Given the description of an element on the screen output the (x, y) to click on. 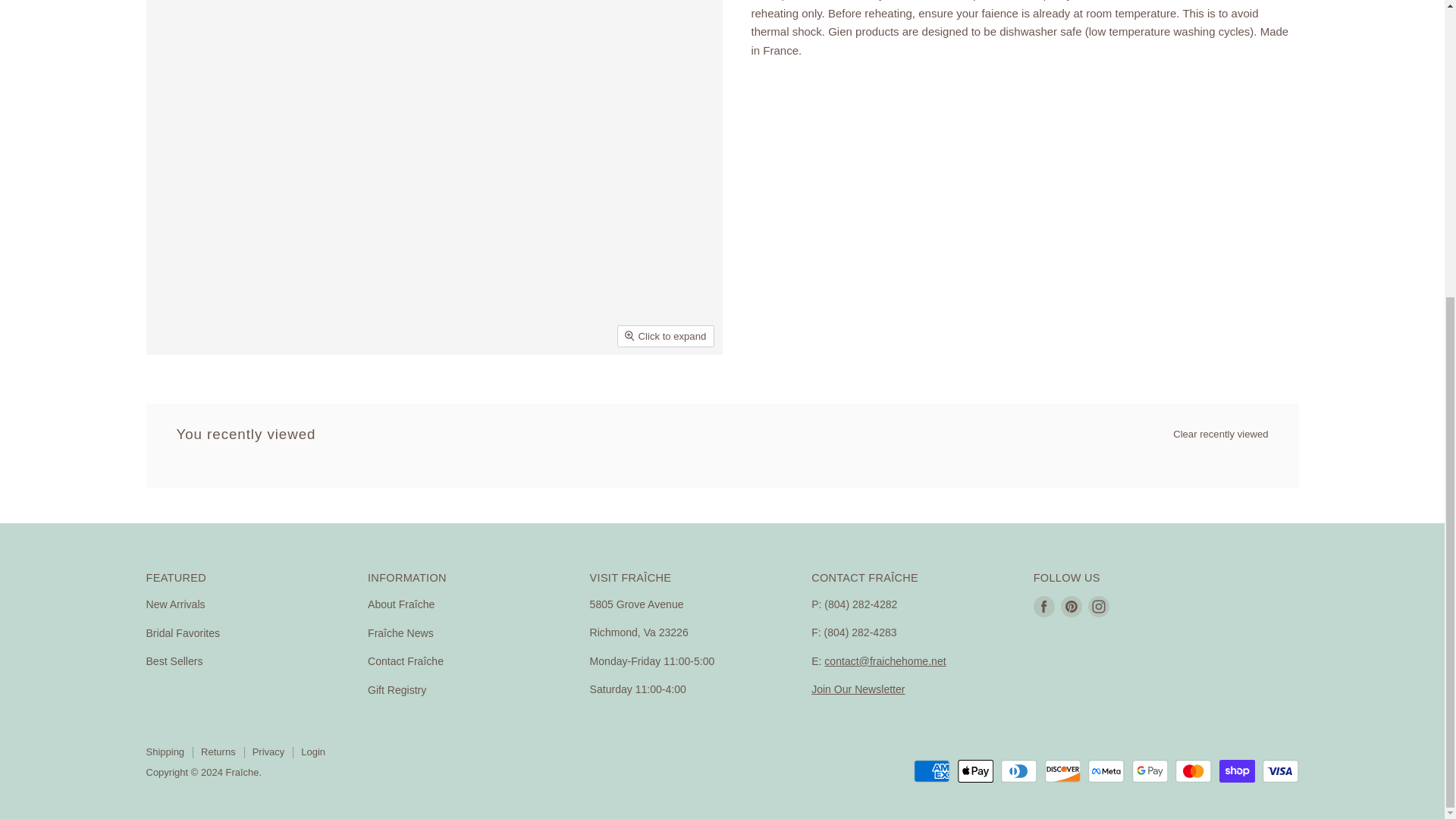
Pinterest (1071, 632)
Facebook (1044, 632)
Instagram (1098, 632)
